Given the description of an element on the screen output the (x, y) to click on. 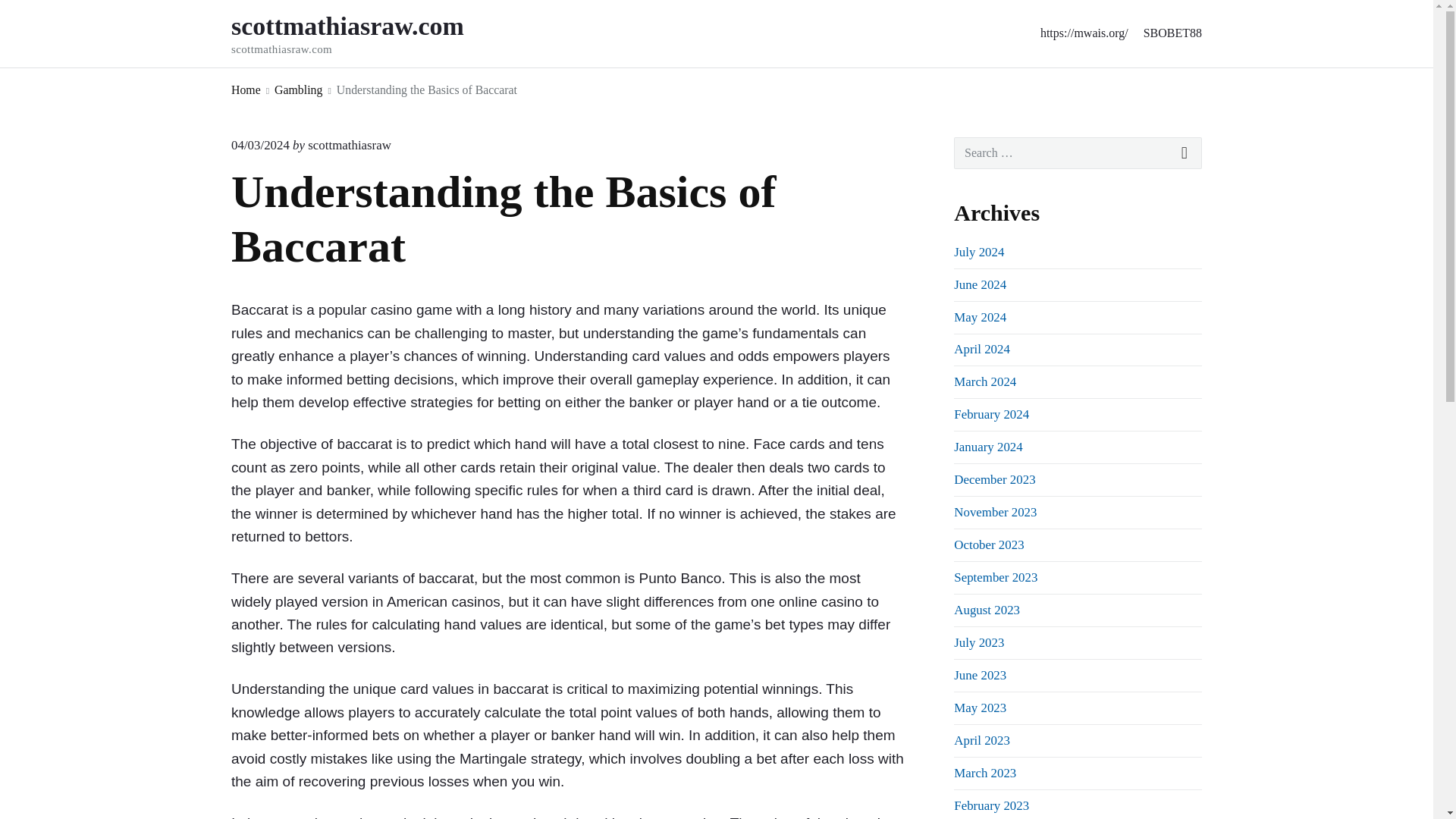
Home (245, 89)
July 2023 (978, 642)
SBOBET88 (1172, 32)
Gambling (298, 89)
Search for: (368, 33)
Posts by scottmathiasraw (1077, 152)
March 2024 (349, 145)
December 2023 (984, 381)
June 2024 (994, 479)
April 2023 (979, 284)
August 2023 (981, 740)
February 2024 (986, 609)
May 2023 (991, 414)
scottmathiasraw (979, 707)
